Given the description of an element on the screen output the (x, y) to click on. 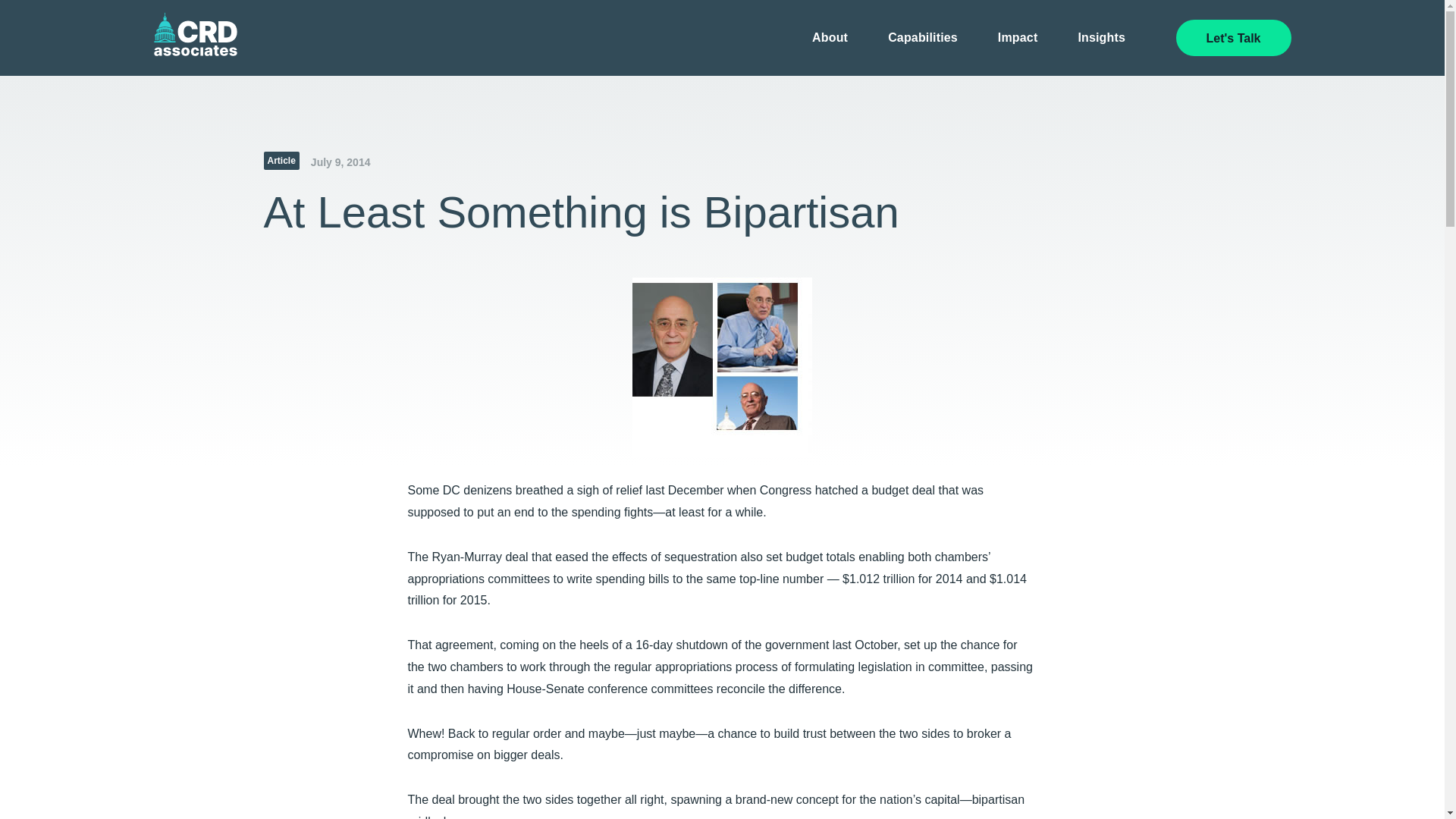
Article (281, 160)
Insights (1101, 38)
Let's Talk (1233, 38)
Capabilities (922, 38)
About (829, 38)
Impact (1017, 38)
